Given the description of an element on the screen output the (x, y) to click on. 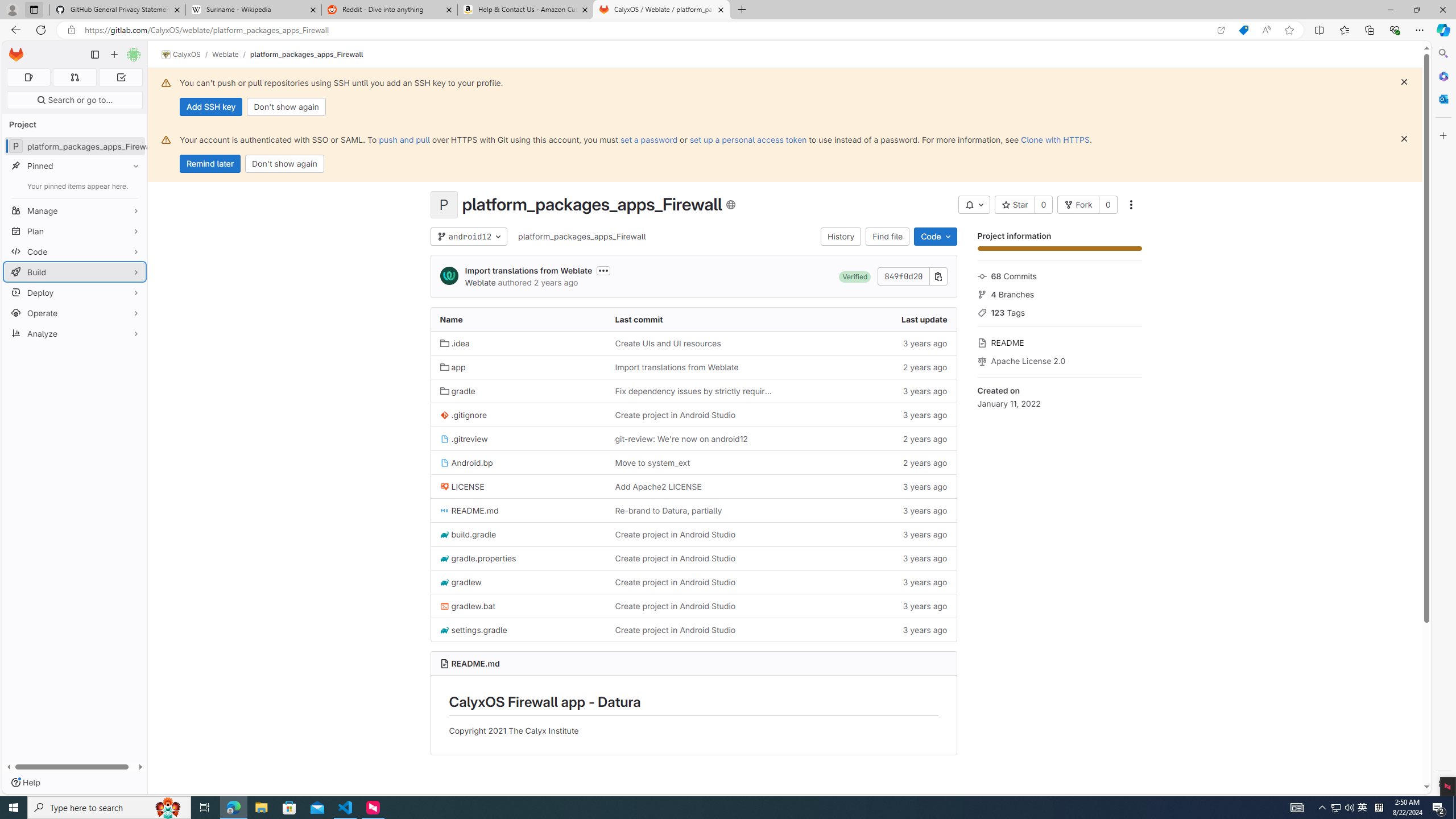
gradlew.bat (517, 605)
Hosted Weblate's avatar (448, 275)
.gitreview (517, 438)
.gitignore (517, 414)
git-review: We're now on android12 (693, 438)
Plan (74, 230)
Import translations from Weblate (693, 366)
CalyxOS (180, 54)
Create UIs and UI resources (693, 342)
LICENSE (461, 486)
